Given the description of an element on the screen output the (x, y) to click on. 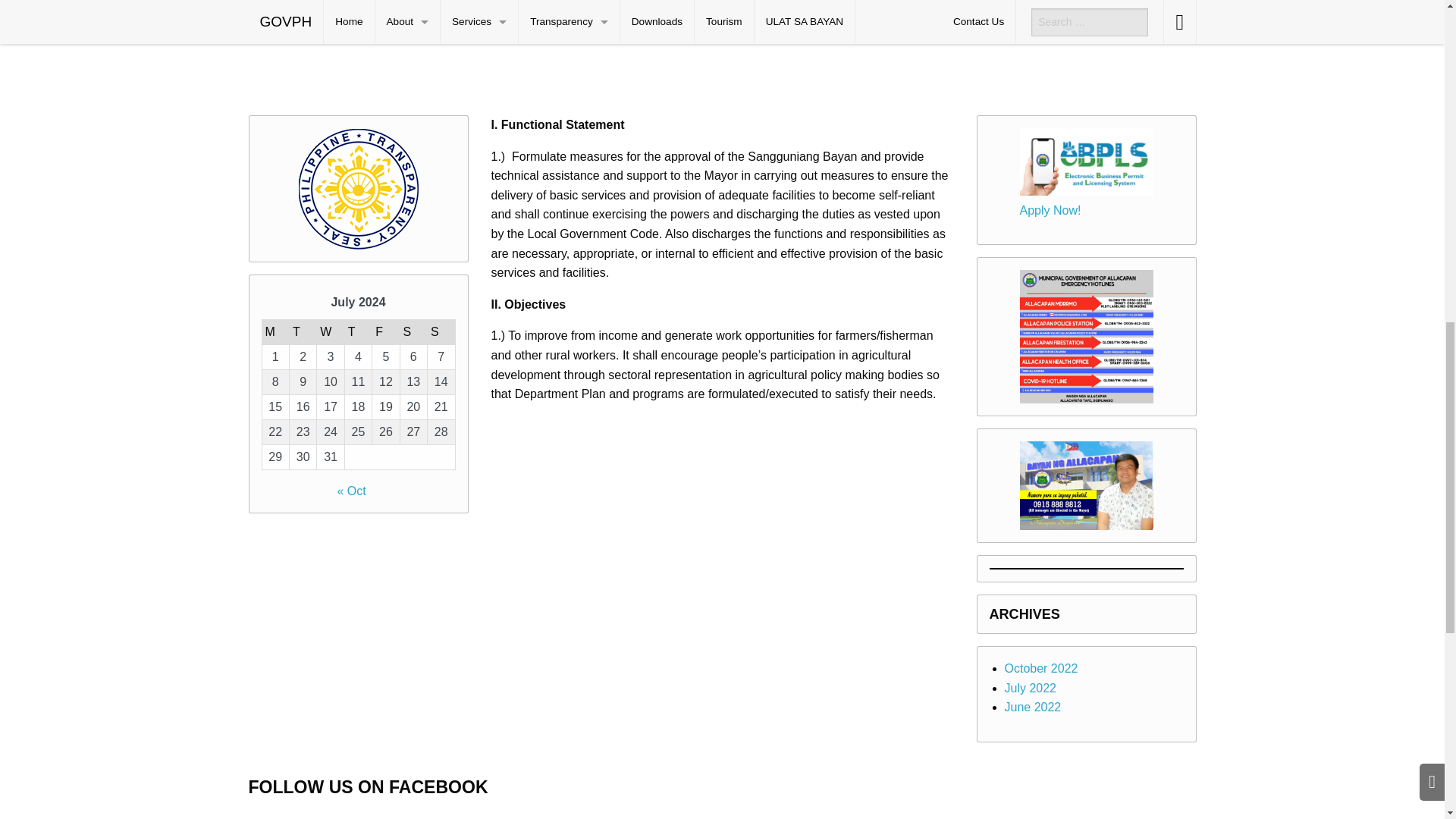
Friday (385, 332)
Tuesday (301, 332)
Transparency Seal (358, 188)
Sunday (441, 332)
Wednesday (330, 332)
Monday (275, 332)
Saturday (412, 332)
Thursday (357, 332)
ALLACAPAN DOCUMENTARY VIDEO FINAL (722, 805)
